Given the description of an element on the screen output the (x, y) to click on. 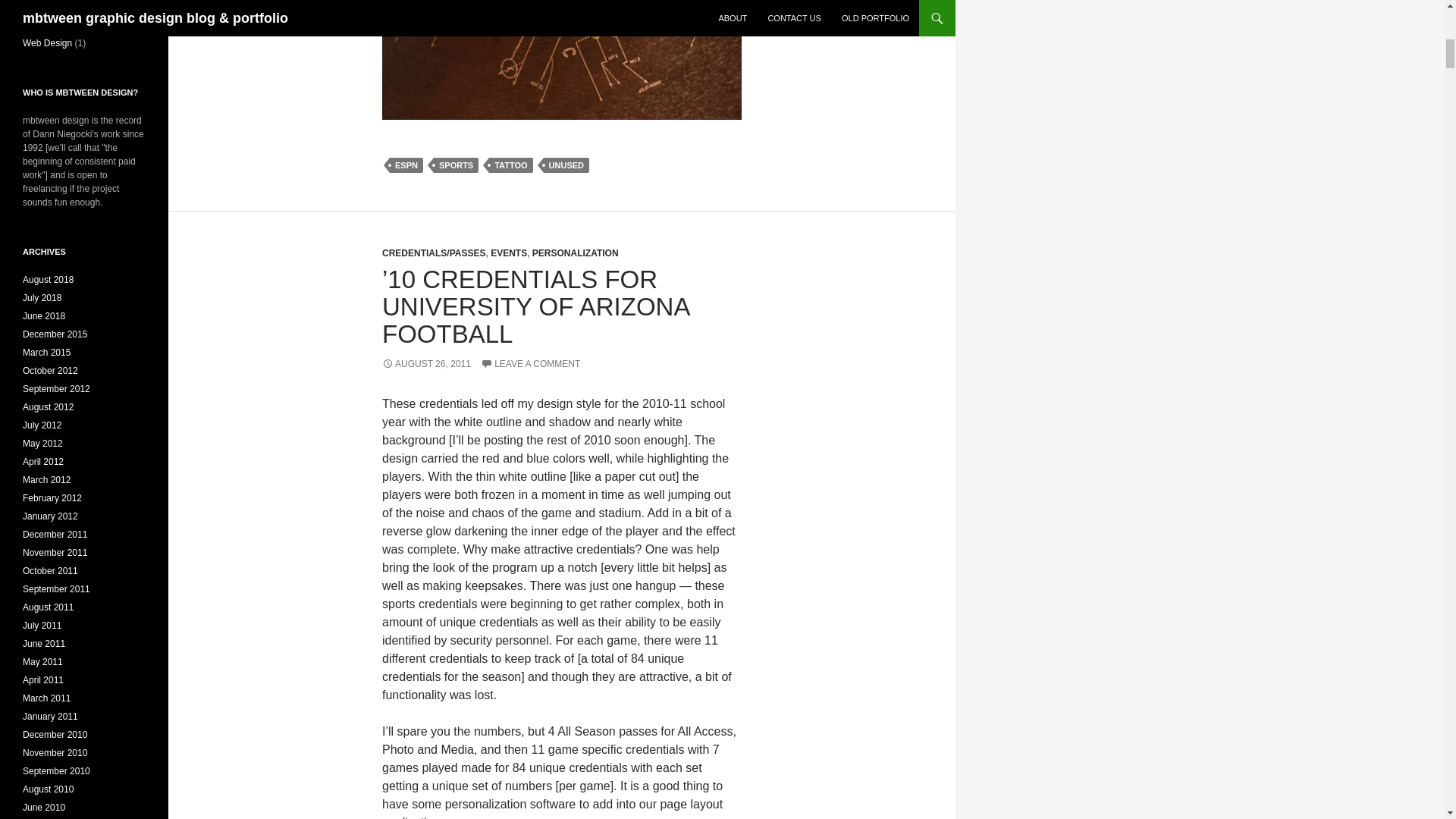
ESPN (406, 165)
PERSONALIZATION (575, 253)
EVENTS (508, 253)
TATTOO (510, 165)
UNUSED (566, 165)
LEAVE A COMMENT (529, 363)
SPORTS (456, 165)
AUGUST 26, 2011 (425, 363)
